Given the description of an element on the screen output the (x, y) to click on. 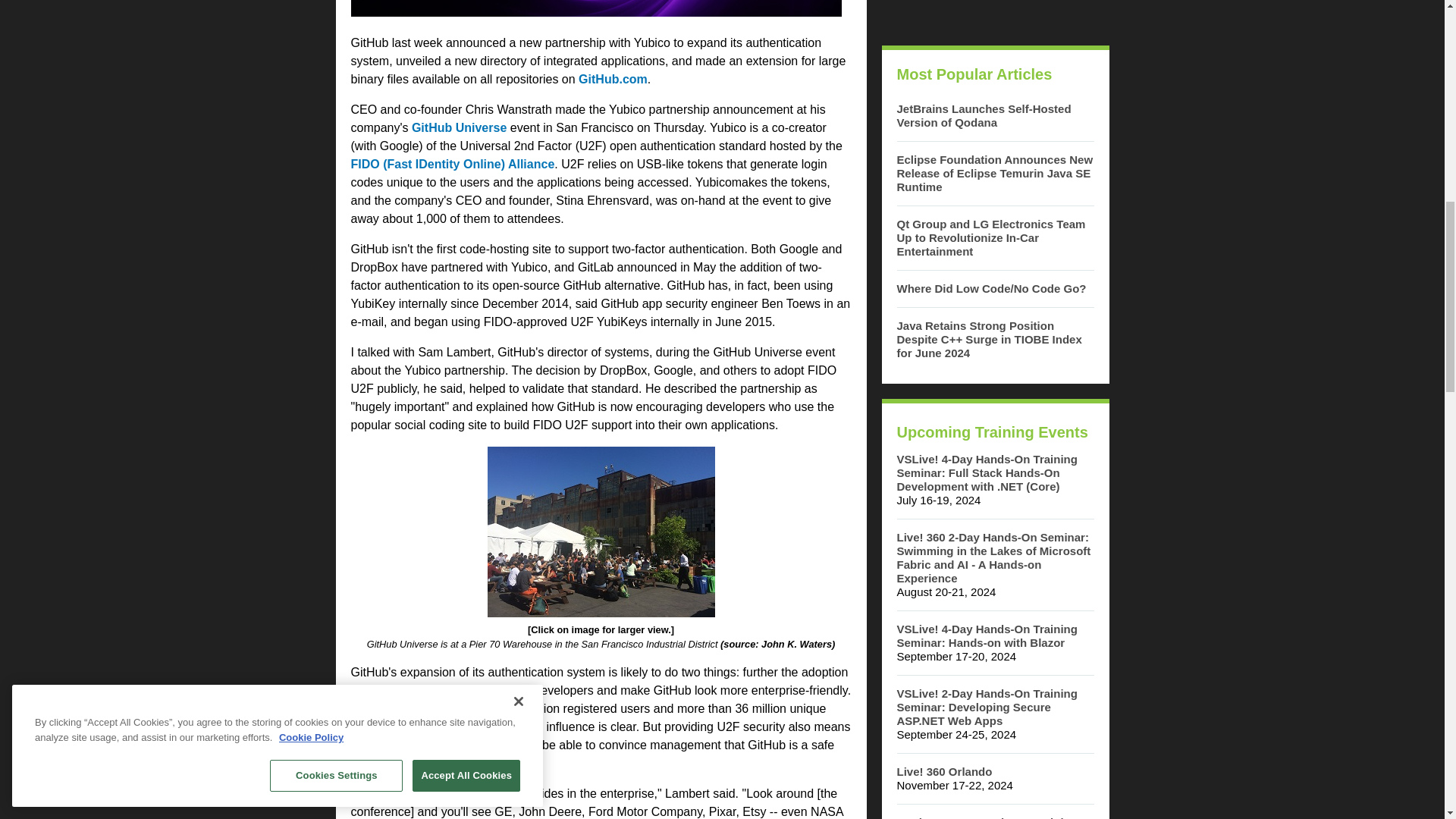
3rd party ad content (994, 15)
GitHub Universe (459, 127)
GitHub.com (612, 78)
